Given the description of an element on the screen output the (x, y) to click on. 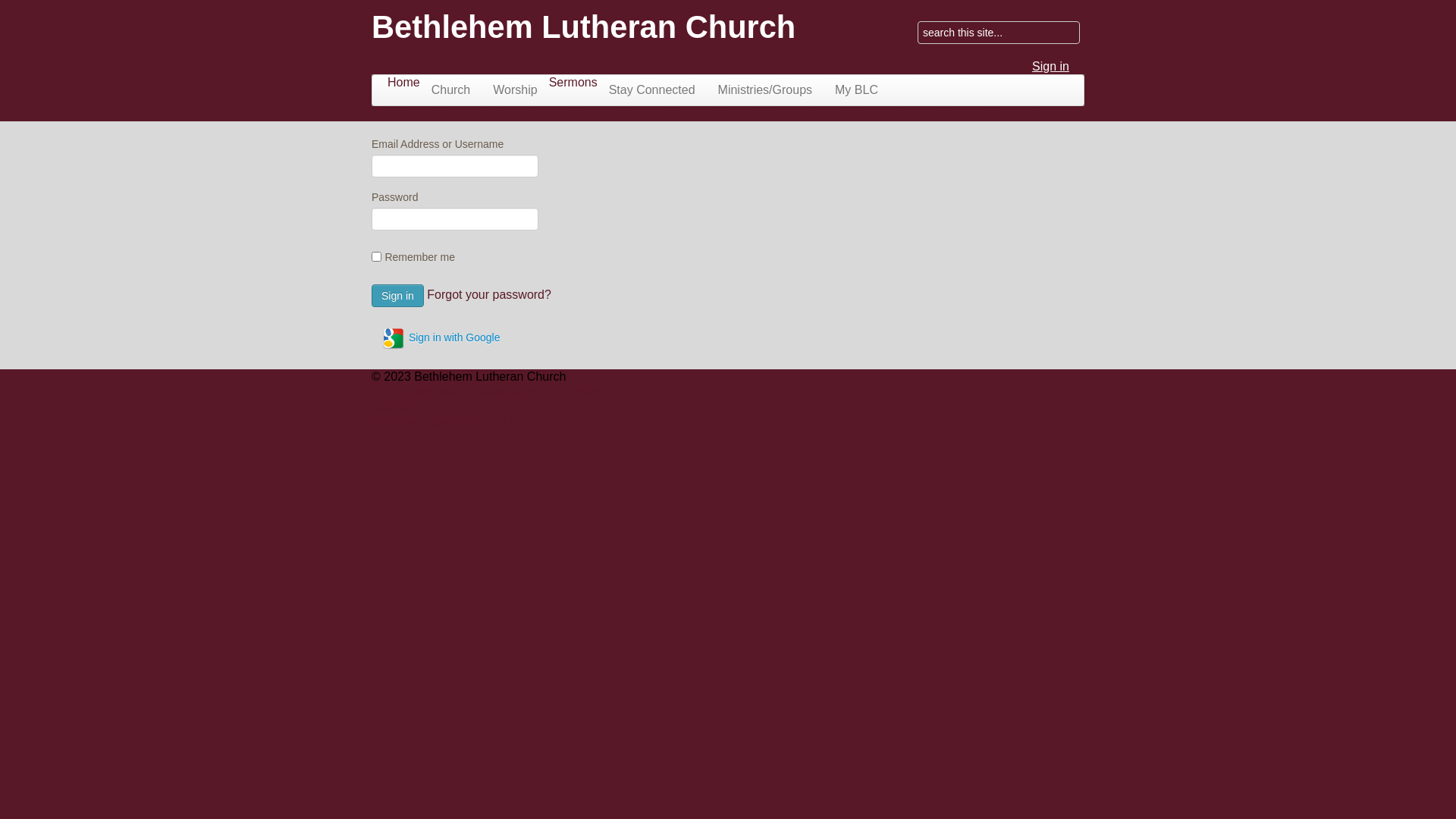
Home Element type: text (403, 81)
My BLC Element type: text (856, 90)
Sermons Element type: text (573, 81)
officemanager@blchurch.com Element type: text (452, 421)
6607476742 Element type: text (405, 406)
Stay Connected Element type: text (651, 90)
Sign in with Google Element type: text (440, 338)
Ministries/Groups Element type: text (764, 90)
Church Element type: text (451, 90)
Sign in Element type: text (397, 295)
Sign in Element type: text (1050, 65)
Forgot your password? Element type: text (488, 294)
607 N. Maguire St Warrensburg, MO 64093 Element type: text (488, 391)
Worship Element type: text (514, 90)
